Given the description of an element on the screen output the (x, y) to click on. 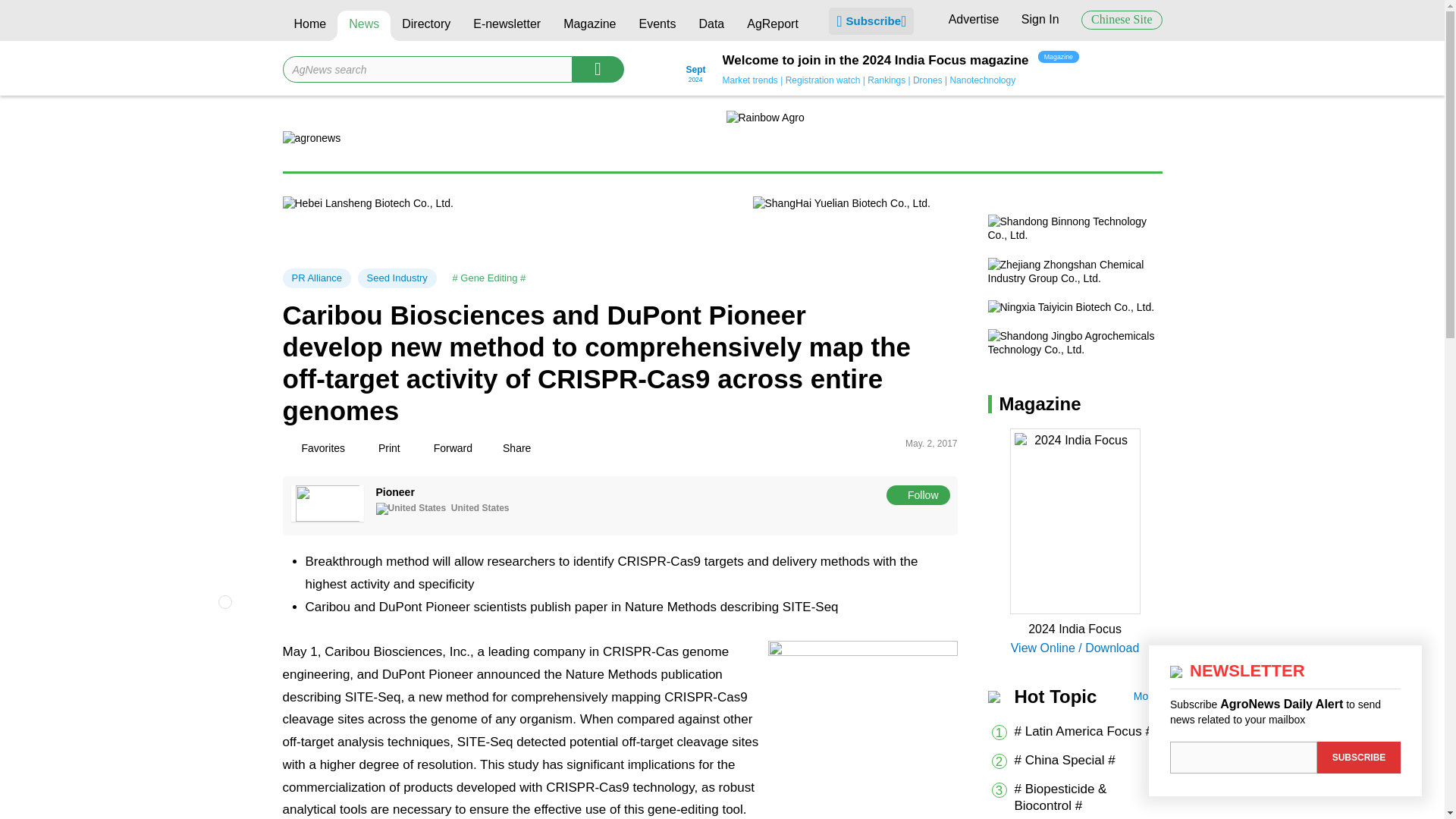
Advertise (973, 19)
United States (410, 508)
Welcome to join in the 2024 India Focus magazine (874, 60)
Home (309, 25)
Data (711, 25)
Magazine (589, 25)
Events (657, 25)
SUBSCRIBE (1358, 757)
Chinese Site (1121, 19)
AgReport (772, 25)
